Given the description of an element on the screen output the (x, y) to click on. 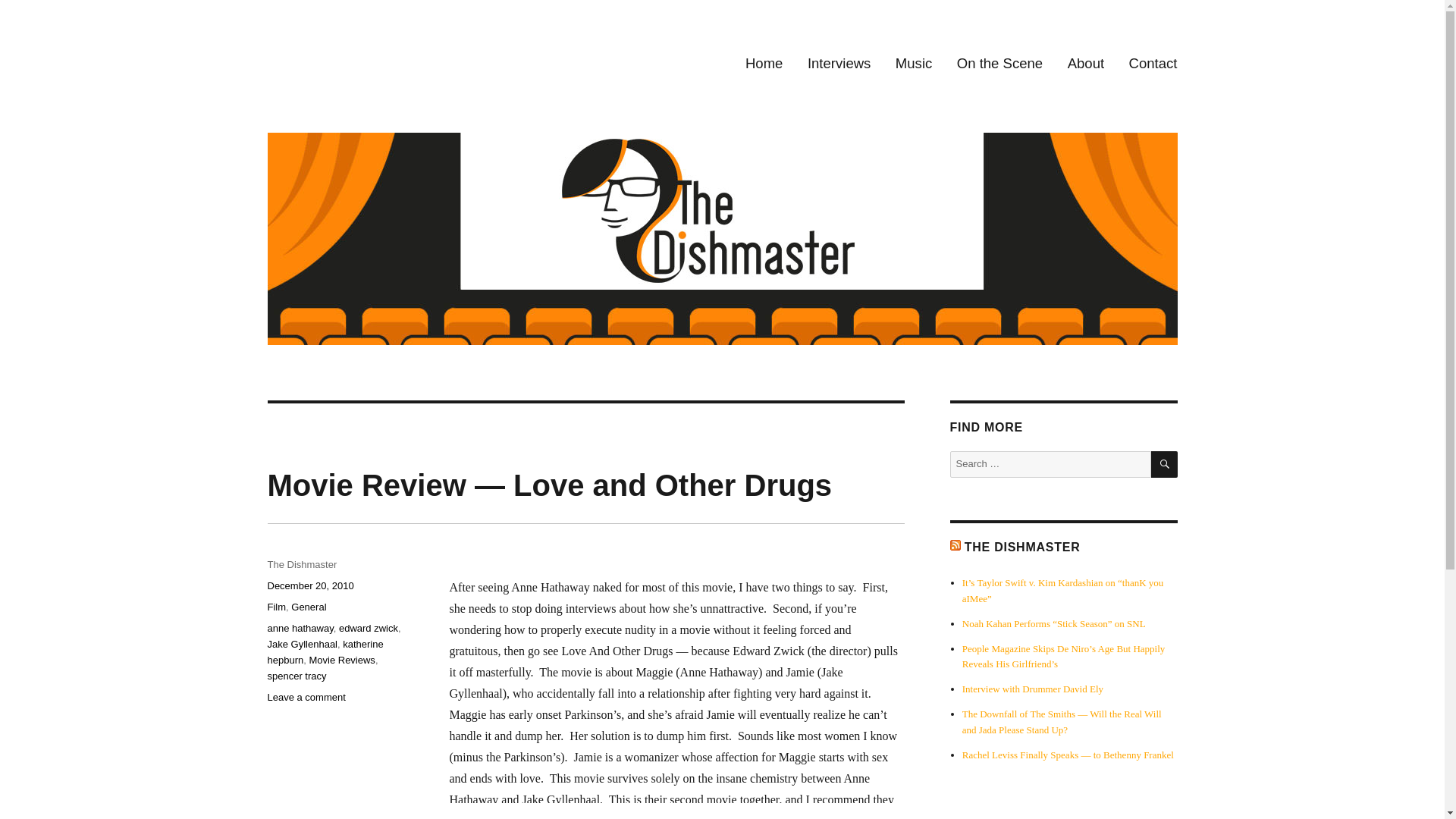
spencer tracy (296, 675)
Interviews (838, 63)
On the Scene (999, 63)
The Dishmaster (346, 50)
edward zwick (368, 627)
THE DISHMASTER (1021, 546)
December 20, 2010 (309, 585)
Interview with Drummer David Ely (1032, 688)
anne hathaway (299, 627)
Movie Reviews (341, 659)
